Given the description of an element on the screen output the (x, y) to click on. 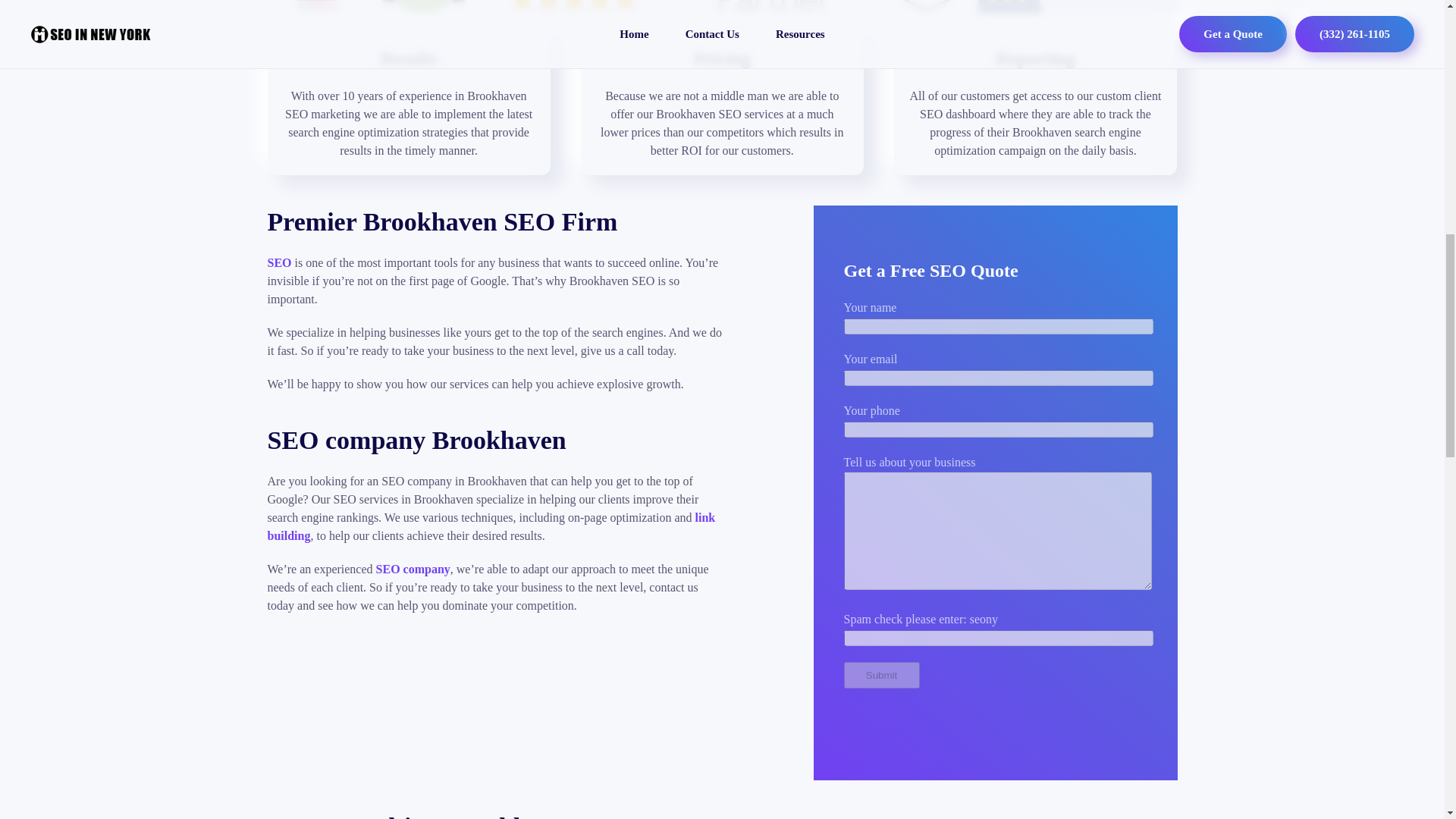
Submit (880, 674)
link building (490, 526)
SEO (278, 262)
SEO company (412, 568)
Submit (880, 674)
